Given the description of an element on the screen output the (x, y) to click on. 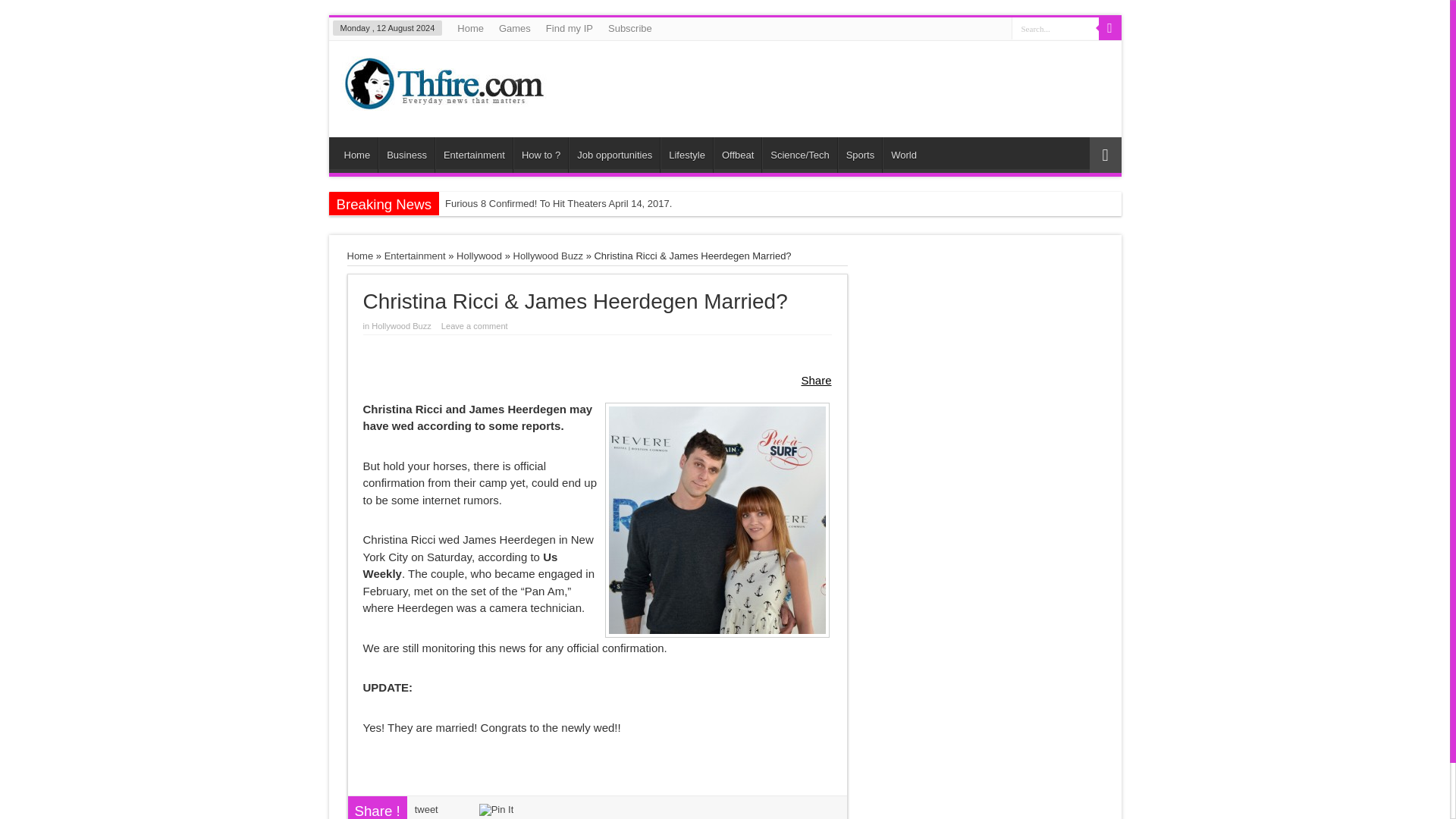
Sports (860, 154)
Business (405, 154)
Job opportunities (614, 154)
Thfire.com (443, 99)
Home (357, 154)
Offbeat (737, 154)
Hollywood (479, 255)
Search... (1055, 28)
Kawhi Leonard Named NBA Defensive Player of the Year 2015-16 (593, 227)
Subscribe (629, 28)
